Given the description of an element on the screen output the (x, y) to click on. 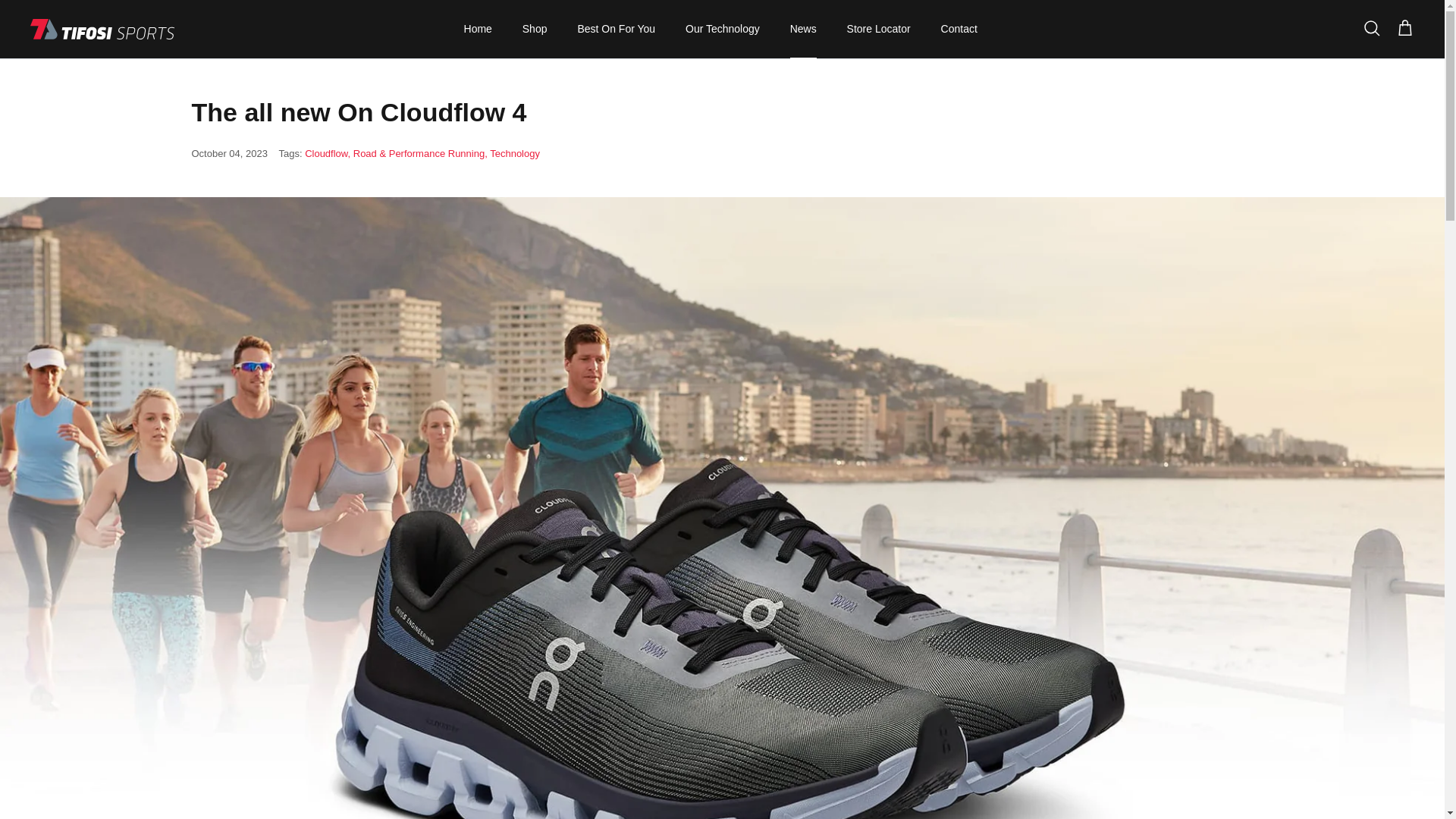
Home (477, 29)
Our Technology (722, 29)
Search (1371, 28)
Show products matching tag Cloudflow (327, 153)
News (802, 29)
Best On For You (615, 29)
Show products matching tag Technology (514, 153)
Tifosi Sports (102, 29)
Shop (534, 29)
Cart (1404, 28)
